Given the description of an element on the screen output the (x, y) to click on. 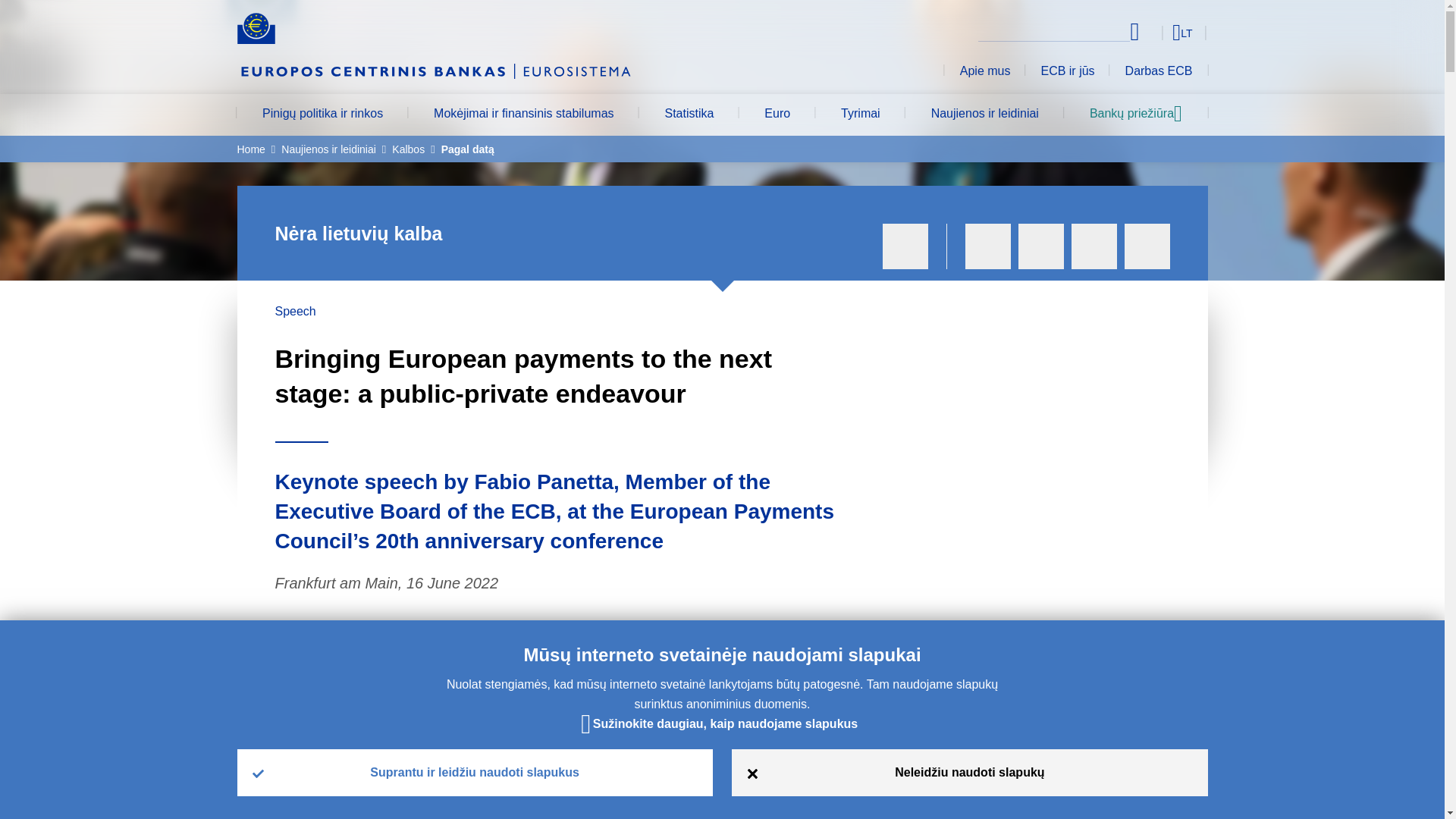
Select language (1153, 32)
